Given the description of an element on the screen output the (x, y) to click on. 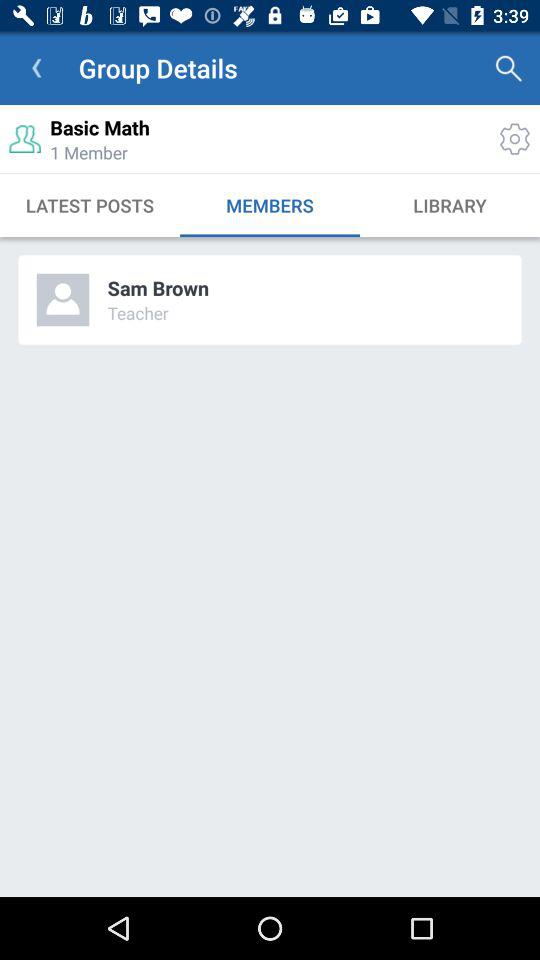
settings (514, 138)
